Given the description of an element on the screen output the (x, y) to click on. 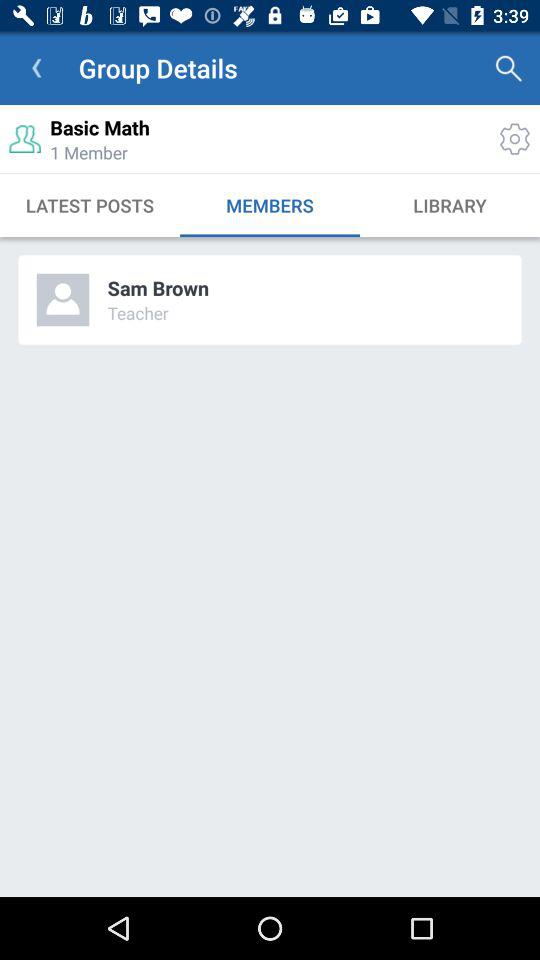
settings (514, 138)
